Given the description of an element on the screen output the (x, y) to click on. 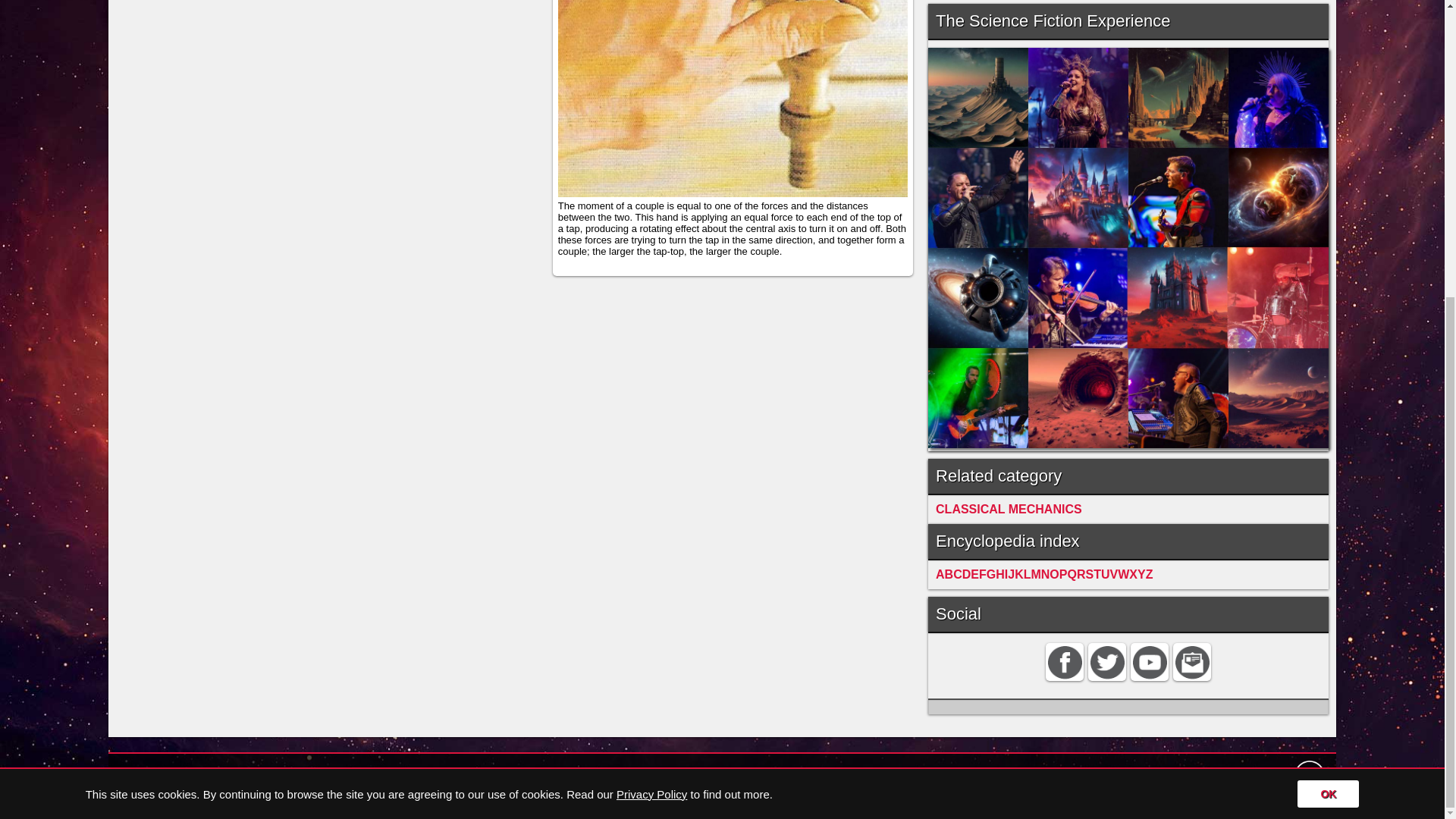
CLASSICAL MECHANICS (1008, 508)
